Given the description of an element on the screen output the (x, y) to click on. 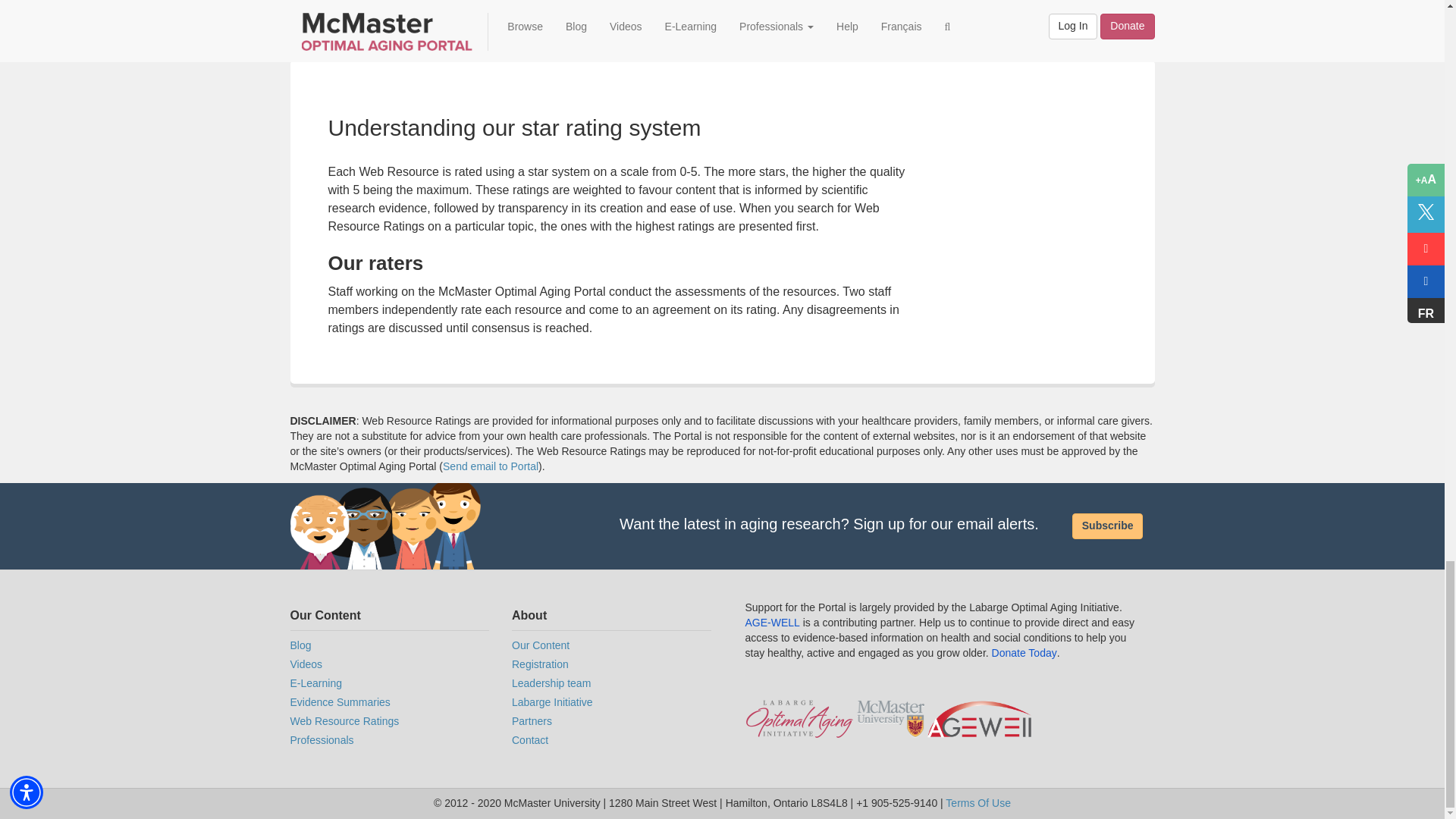
Videos (389, 664)
Send email to Portal (490, 466)
Evidence Summaries (389, 702)
E-Learning (389, 683)
Subscribe (1106, 525)
Send email (490, 466)
Web Resource Ratings (389, 721)
Blog (389, 645)
